Given the description of an element on the screen output the (x, y) to click on. 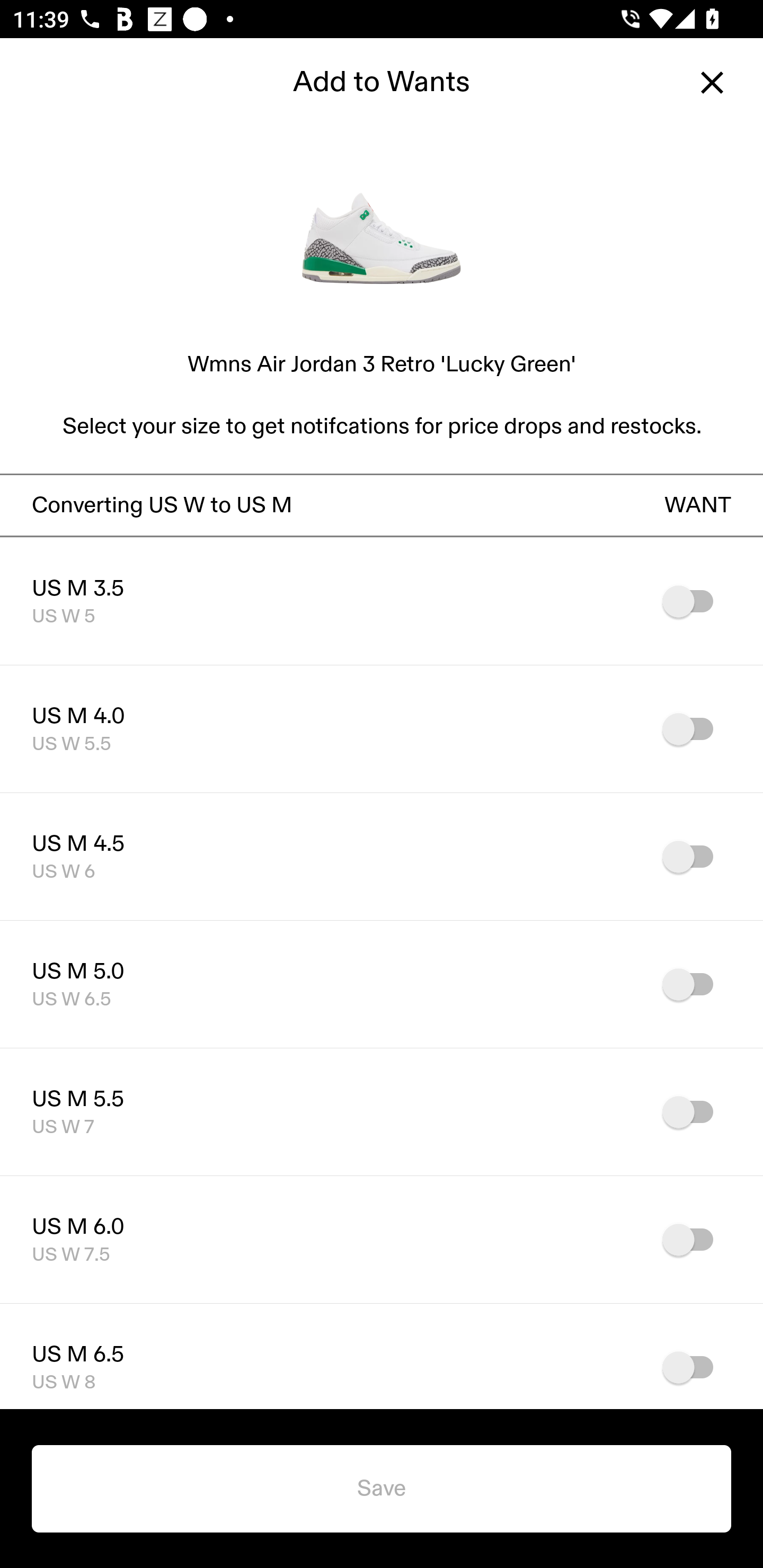
Save (381, 1488)
